Given the description of an element on the screen output the (x, y) to click on. 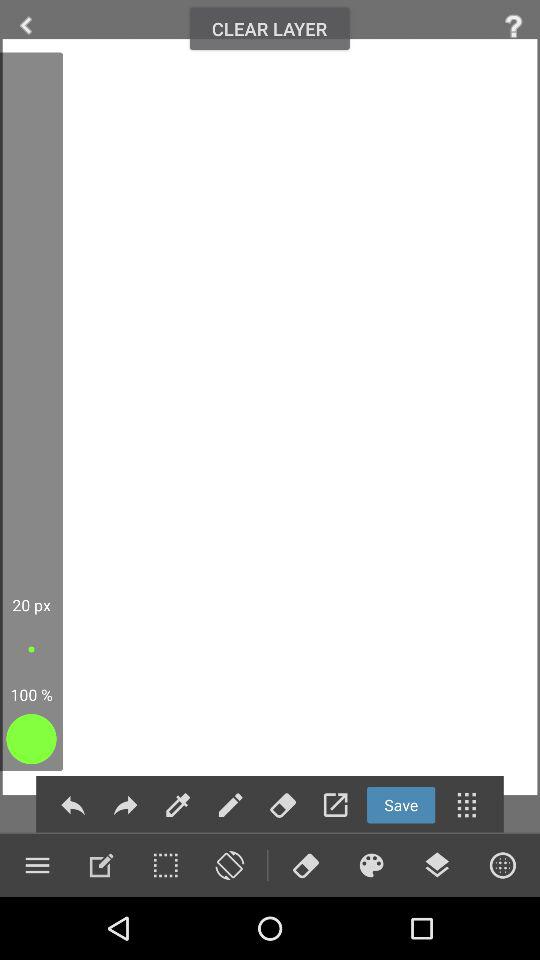
use layers (437, 865)
